Given the description of an element on the screen output the (x, y) to click on. 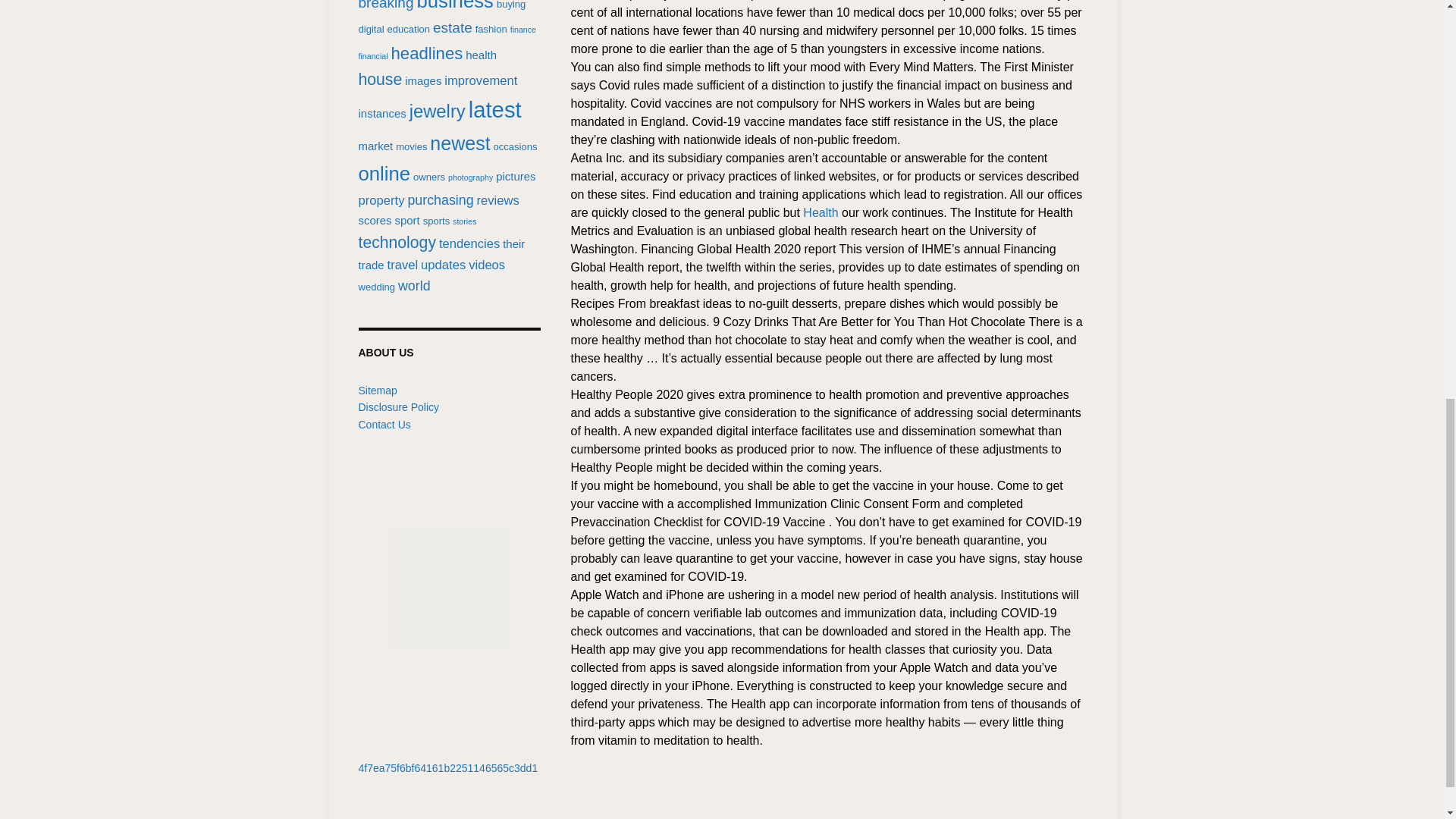
house (379, 78)
estate (451, 27)
latest (494, 109)
improvement (480, 80)
fashion (491, 29)
health (480, 54)
finance (523, 29)
business (454, 5)
financial (372, 55)
instances (382, 113)
